Given the description of an element on the screen output the (x, y) to click on. 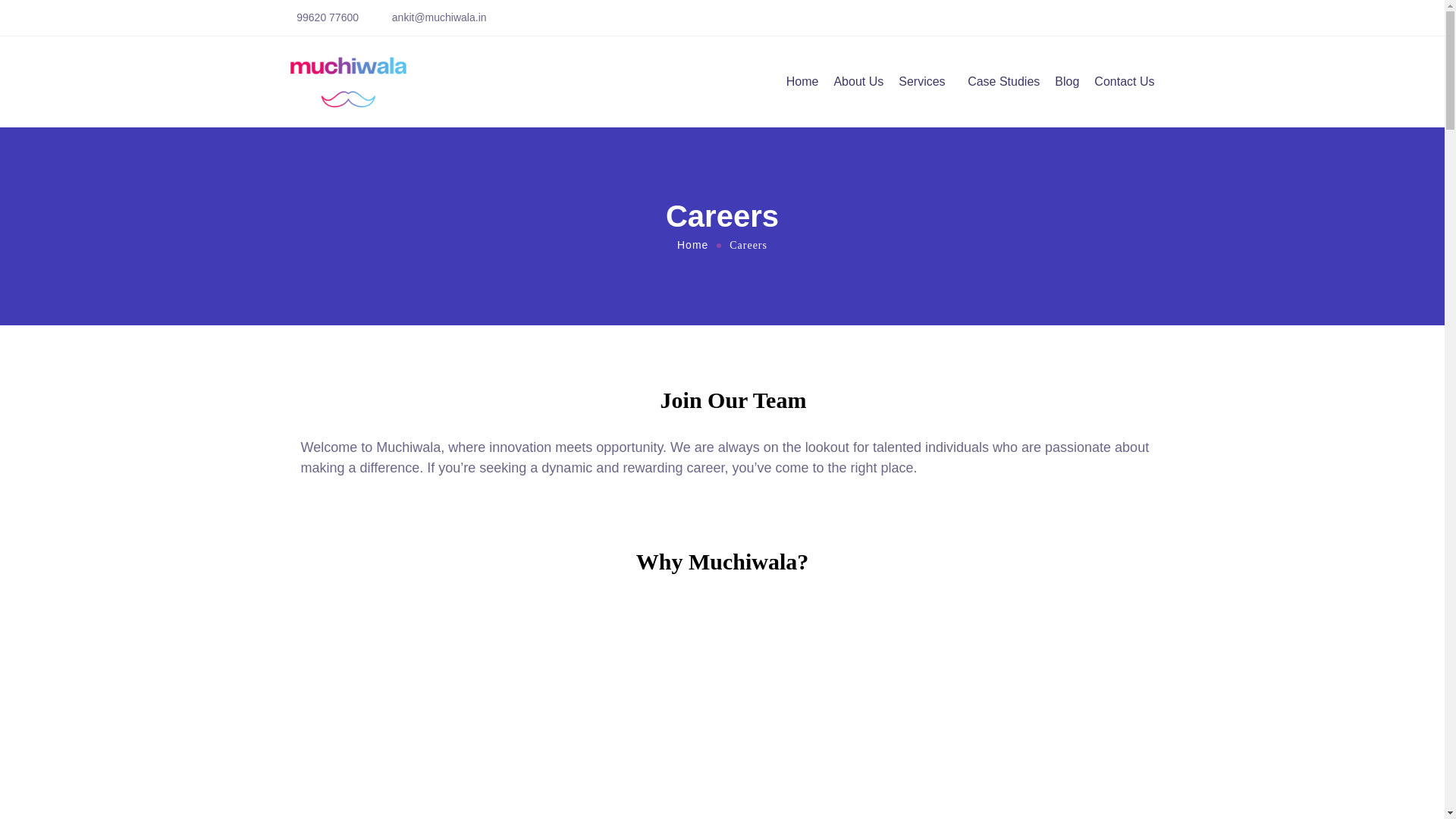
About Us (857, 81)
Home (693, 244)
Services (925, 81)
Home (802, 81)
Blog (1066, 81)
Contact Us (1124, 81)
cropped-Untitled-design-16.png (348, 81)
Case Studies (1003, 81)
